Given the description of an element on the screen output the (x, y) to click on. 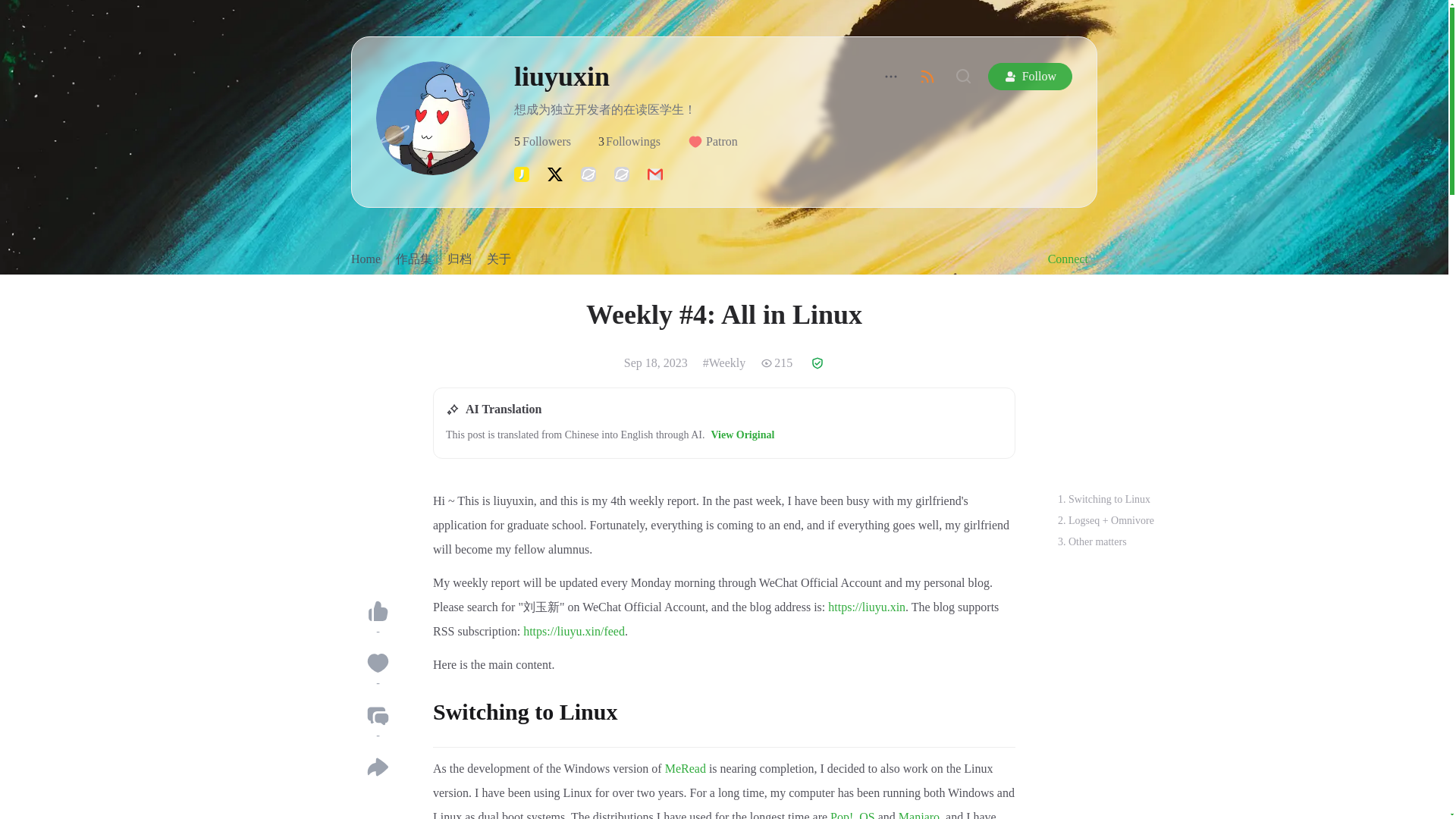
Follow (542, 141)
Home (1029, 76)
3. Other matters (365, 259)
MeRead (629, 141)
Manjaro (1092, 541)
1. Switching to Linux (685, 768)
Patron (918, 814)
Connect (1104, 499)
